Given the description of an element on the screen output the (x, y) to click on. 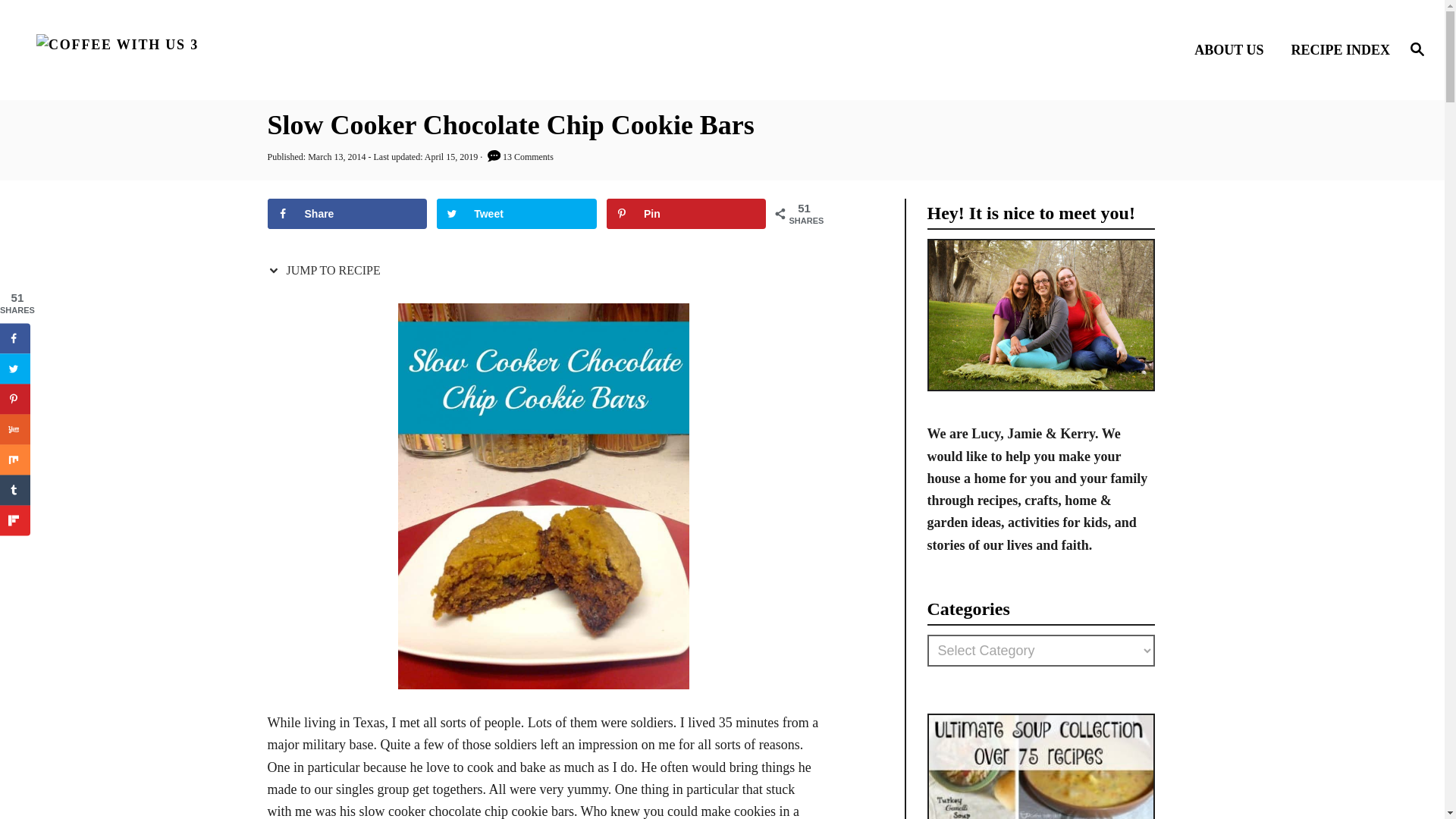
Share on Yummly (15, 429)
Share on Facebook (346, 214)
Share on Mix (15, 459)
ABOUT US (1233, 49)
Save to Pinterest (687, 214)
Pin (687, 214)
Save to Pinterest (15, 399)
Tweet (516, 214)
Coffee With Us 3 (204, 50)
Magnifying Glass (1416, 48)
Share on Facebook (15, 337)
Share on Twitter (516, 214)
Search (62, 22)
Share (346, 214)
Share on Tumblr (15, 490)
